Given the description of an element on the screen output the (x, y) to click on. 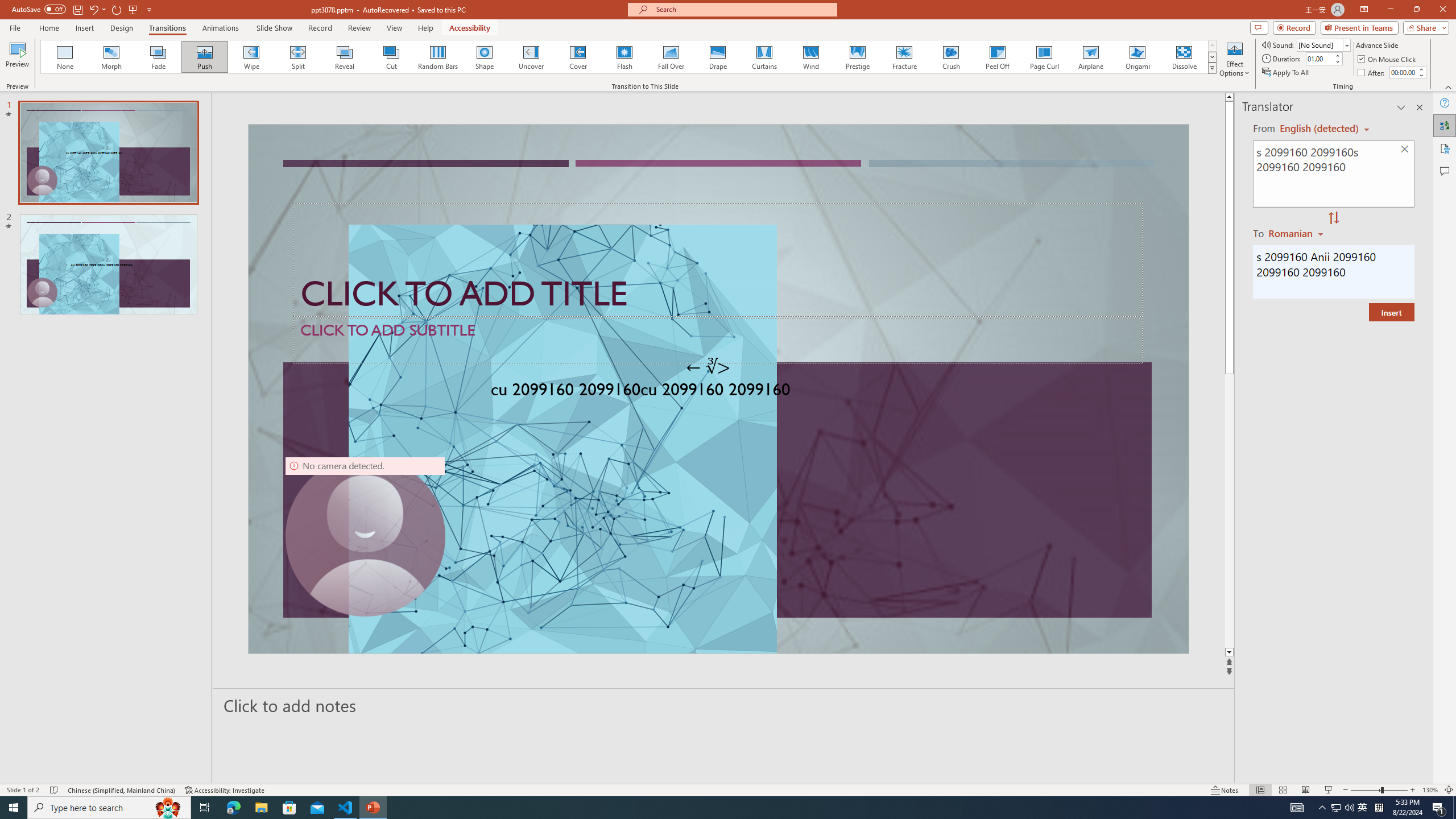
Duration (1319, 58)
Zoom 130% (1430, 790)
Morph (111, 56)
Clear text (1404, 149)
Prestige (857, 56)
Transition Effects (1212, 67)
Drape (717, 56)
